Given the description of an element on the screen output the (x, y) to click on. 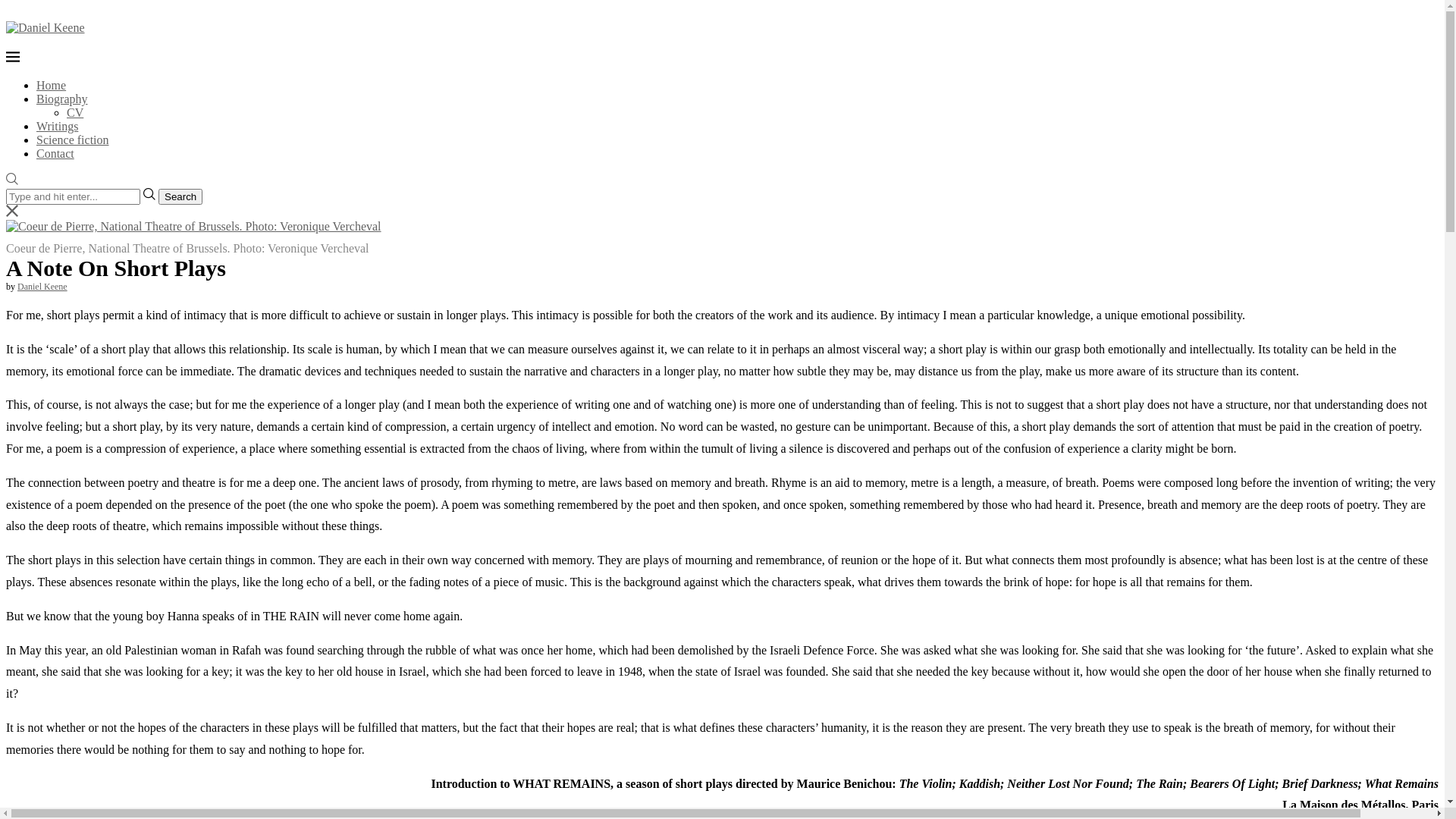
Biography Element type: text (61, 98)
Contact Element type: text (55, 153)
Daniel Keene Element type: text (42, 286)
Coeur de Pierre 6 Element type: hover (193, 226)
Science fiction Element type: text (72, 139)
Search Element type: text (180, 196)
Home Element type: text (50, 84)
Writings Element type: text (57, 125)
CV Element type: text (74, 112)
